Given the description of an element on the screen output the (x, y) to click on. 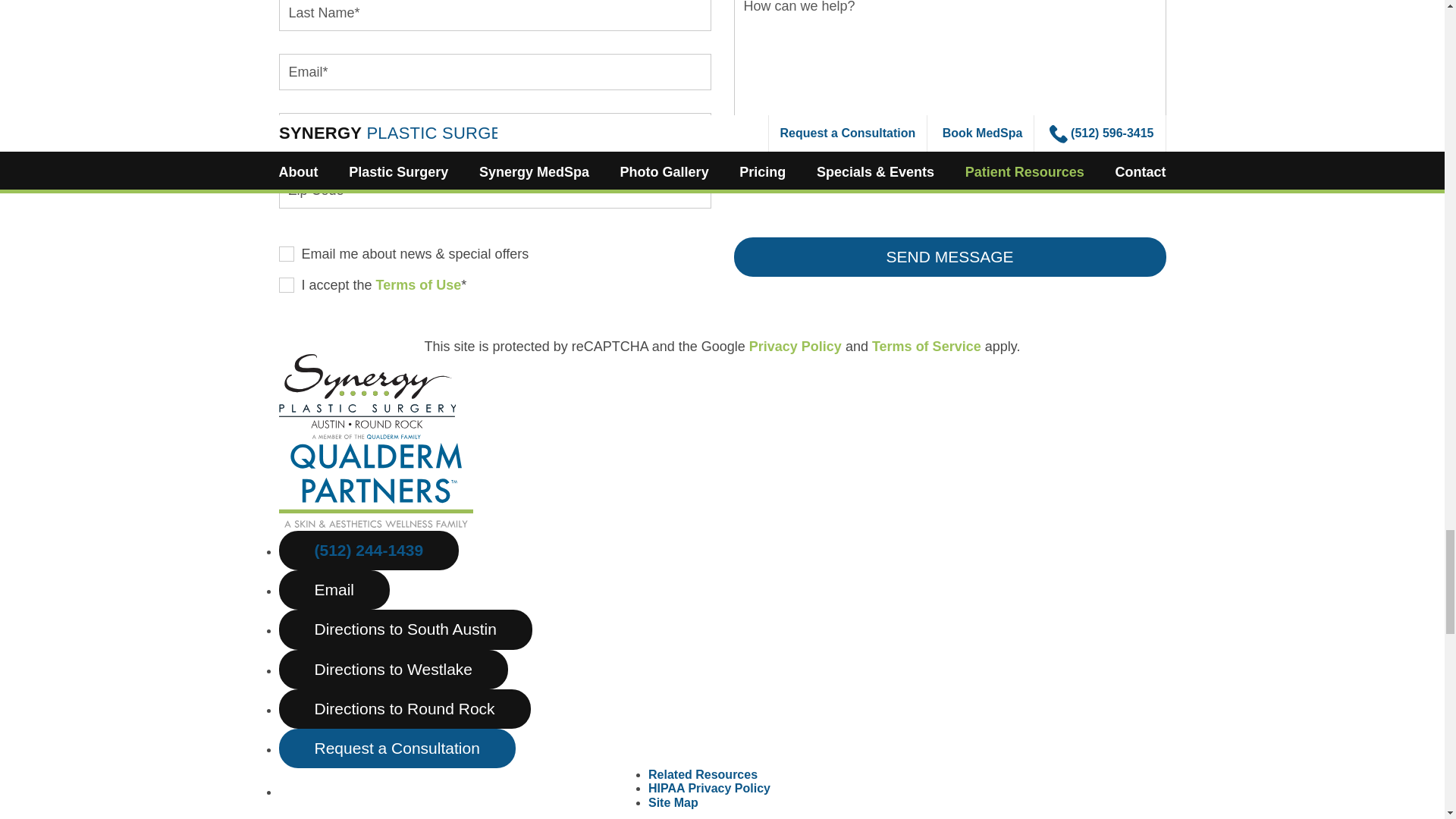
checked (286, 284)
checked (286, 253)
